Given the description of an element on the screen output the (x, y) to click on. 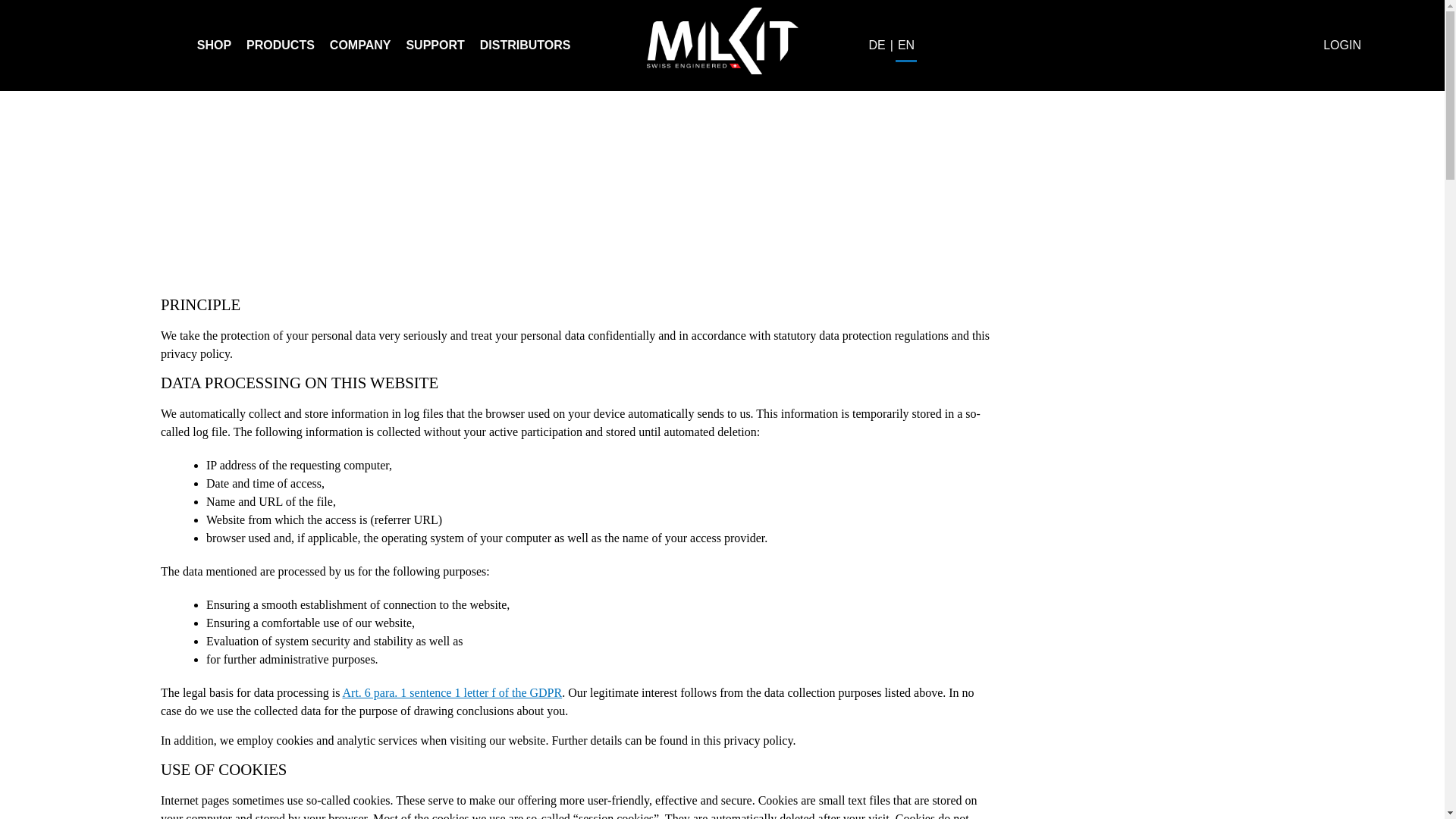
SUPPORT (435, 45)
COMPANY (360, 45)
LOGIN (1342, 45)
SHOP (213, 45)
Art. 6 para. 1 sentence 1 letter f of the GDPR (452, 692)
PRODUCTS (280, 45)
DISTRIBUTORS (525, 45)
